Given the description of an element on the screen output the (x, y) to click on. 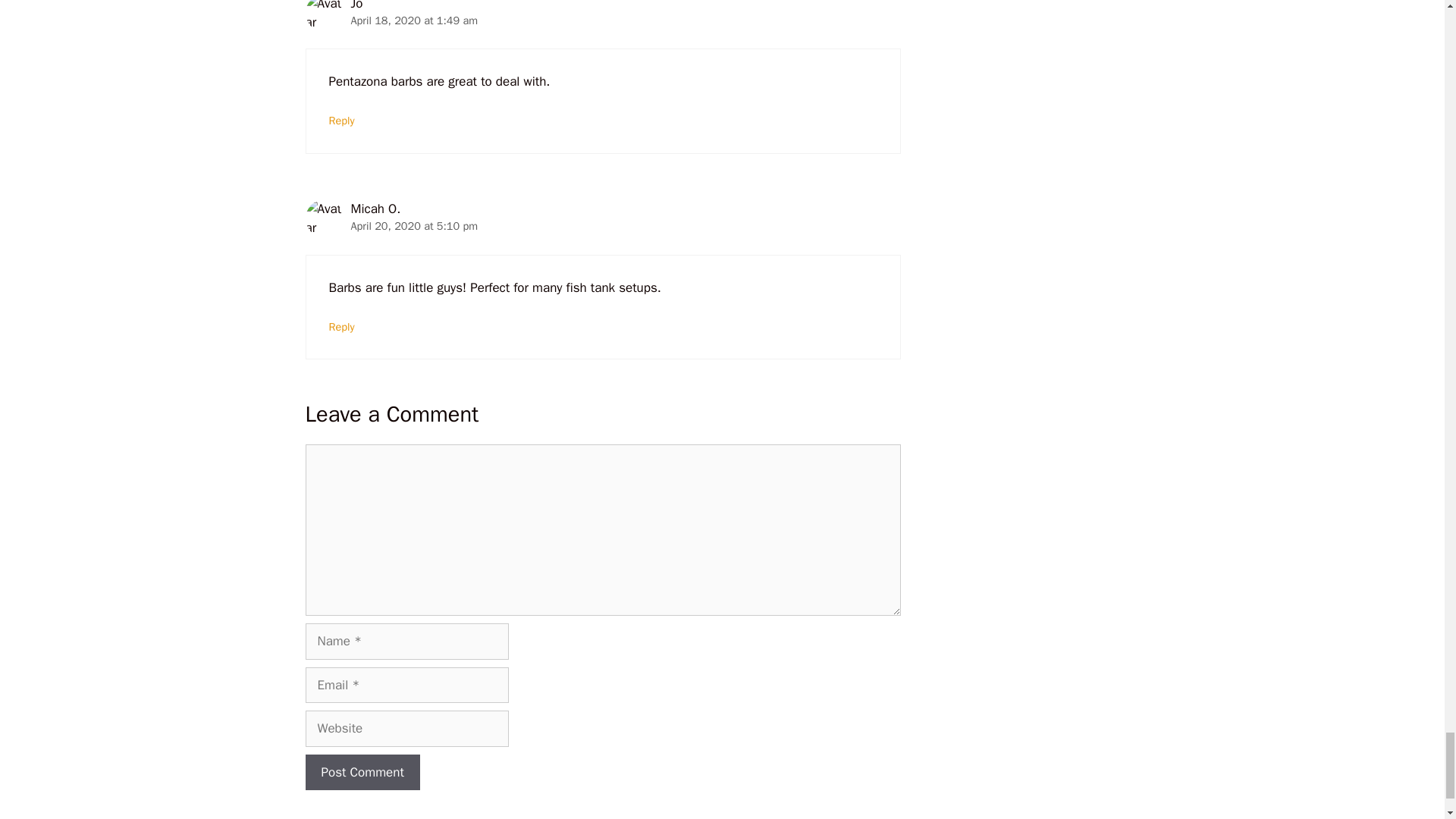
Post Comment (361, 772)
